Given the description of an element on the screen output the (x, y) to click on. 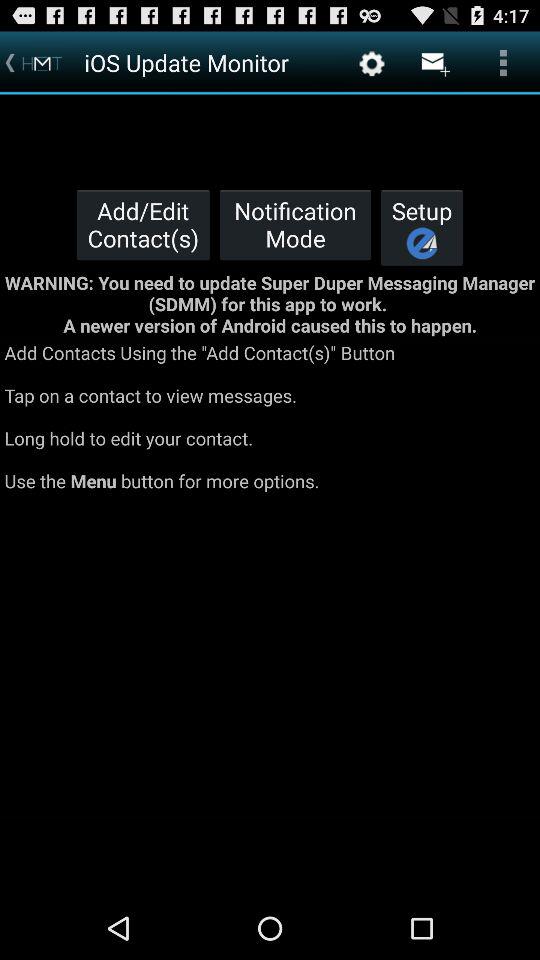
open the button next to add edit contact (295, 224)
